Given the description of an element on the screen output the (x, y) to click on. 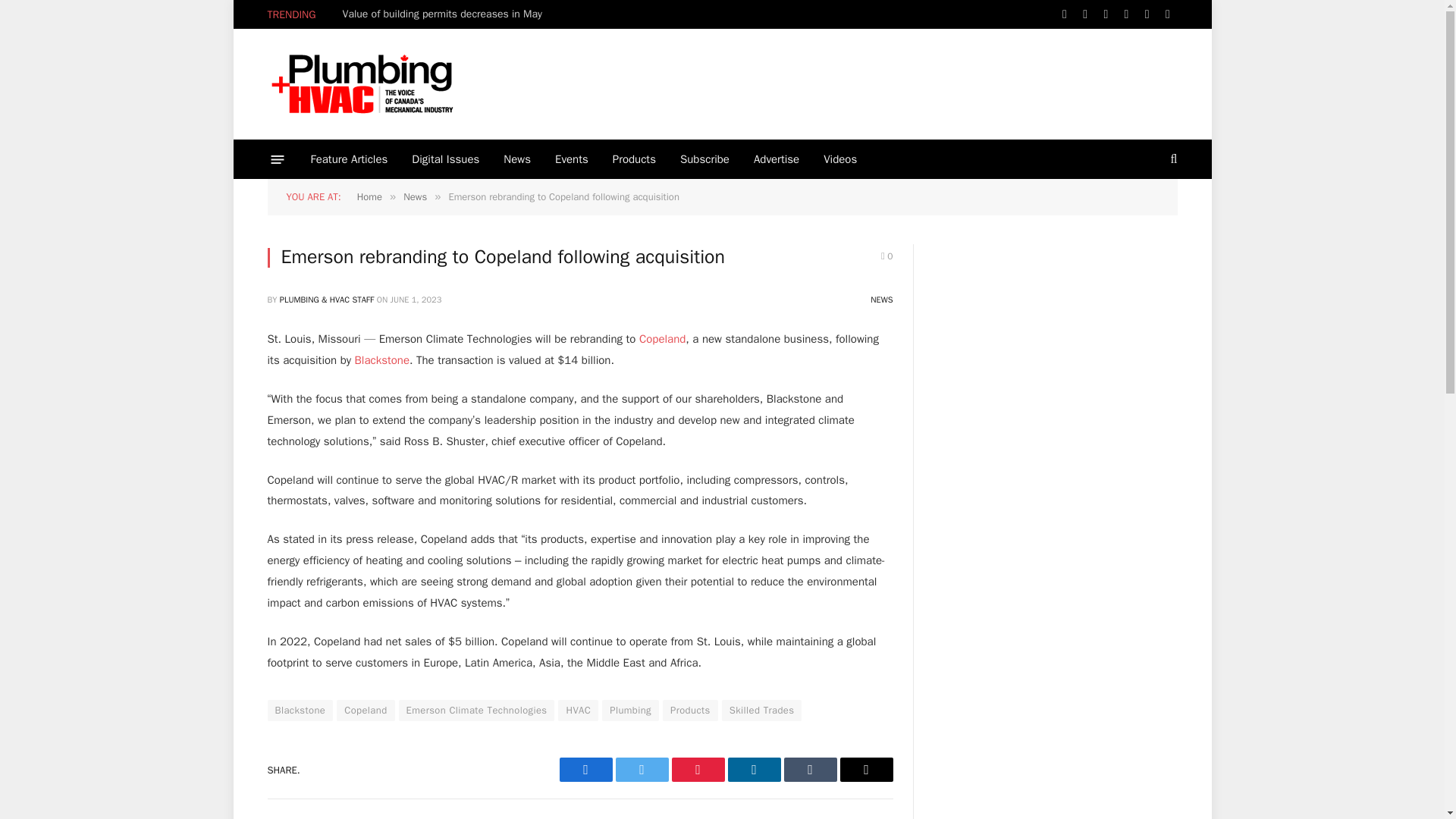
Advertise (775, 159)
Share on LinkedIn (754, 769)
Share via Email (866, 769)
Products (633, 159)
Subscribe (704, 159)
Share on Tumblr (810, 769)
Value of building permits decreases in May (446, 14)
Digital Issues (445, 159)
News (517, 159)
Feature Articles (349, 159)
Share on Pinterest (698, 769)
Events (571, 159)
2023-06-01 (416, 299)
Videos (839, 159)
Share on Facebook (585, 769)
